Given the description of an element on the screen output the (x, y) to click on. 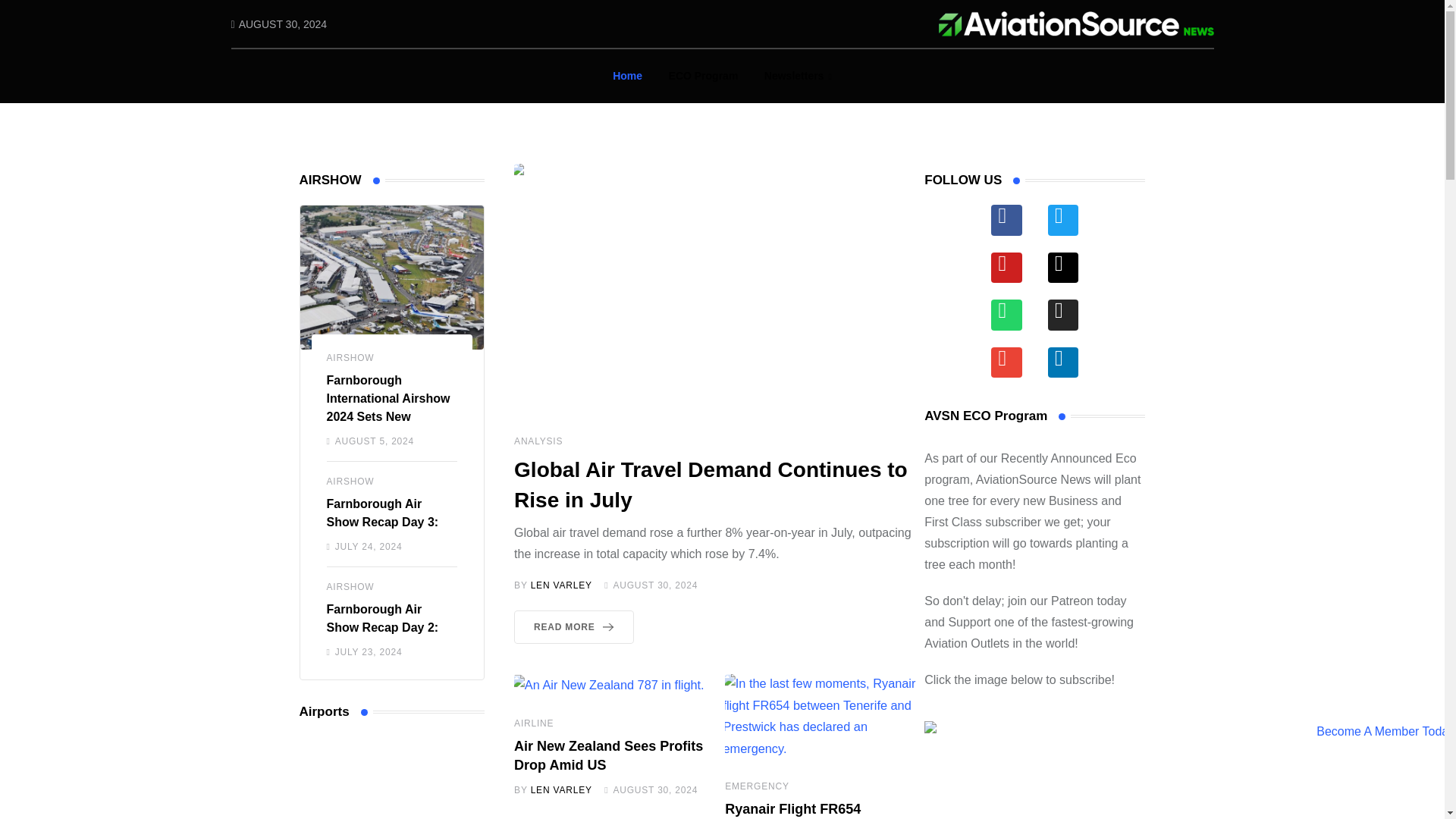
Global Air Travel Demand Continues to Rise in July (710, 484)
AIRSHOW (350, 481)
Home (627, 75)
AIRSHOW (350, 586)
ANALYSIS (537, 440)
Newsletters (797, 76)
AIRSHOW (350, 357)
Posts by Len Varley (561, 584)
ECO Program (703, 75)
Posts by Len Varley (561, 789)
